Given the description of an element on the screen output the (x, y) to click on. 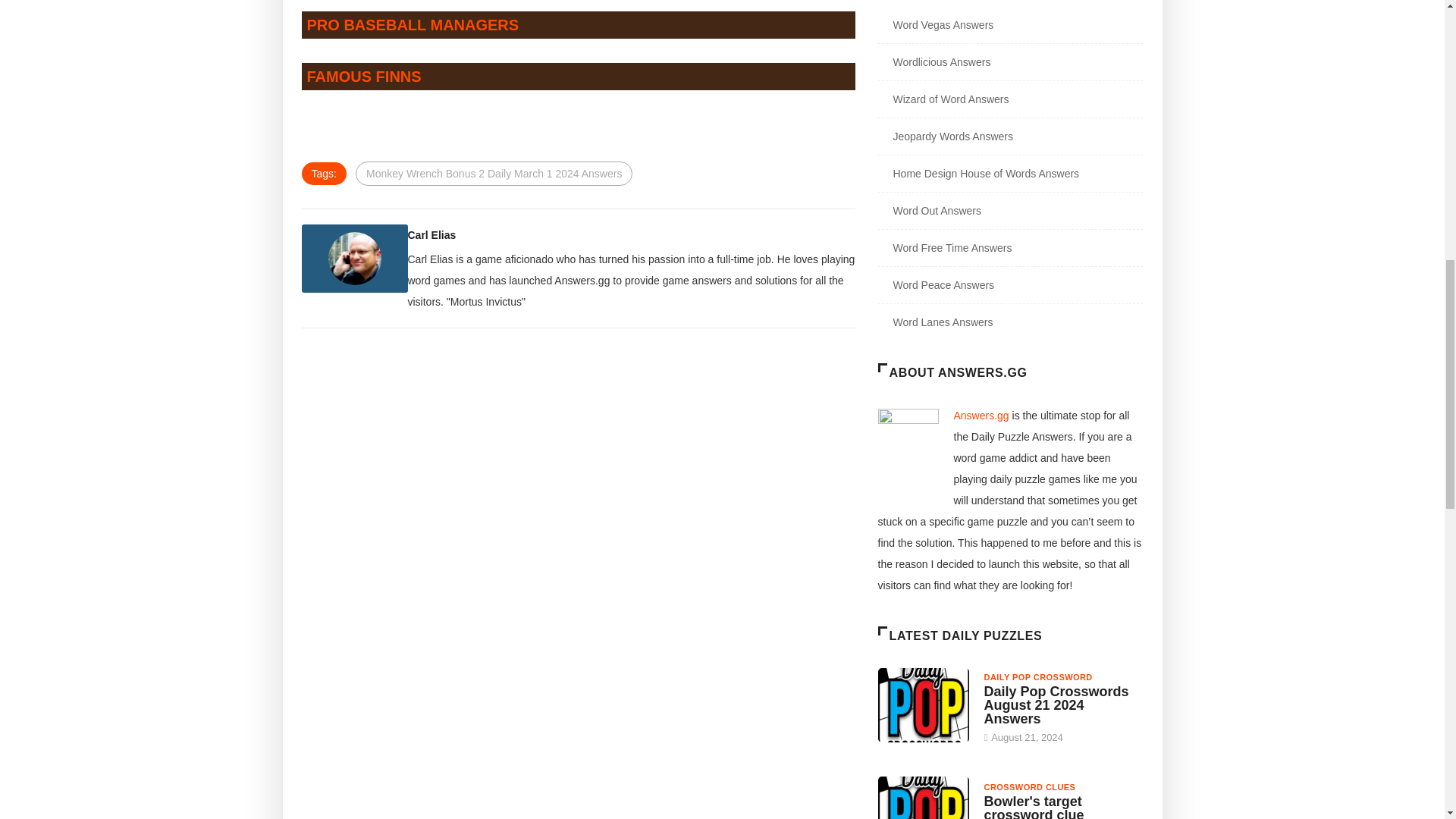
Bowler's target crossword clue (1034, 806)
Daily Pop Crosswords August 21 2024 Answers (1056, 704)
Bowler's target crossword clue (923, 797)
PRO BASEBALL MANAGERS (411, 24)
FAMOUS FINNS (362, 76)
Daily Pop Crosswords August 21 2024 Answers (923, 705)
